Given the description of an element on the screen output the (x, y) to click on. 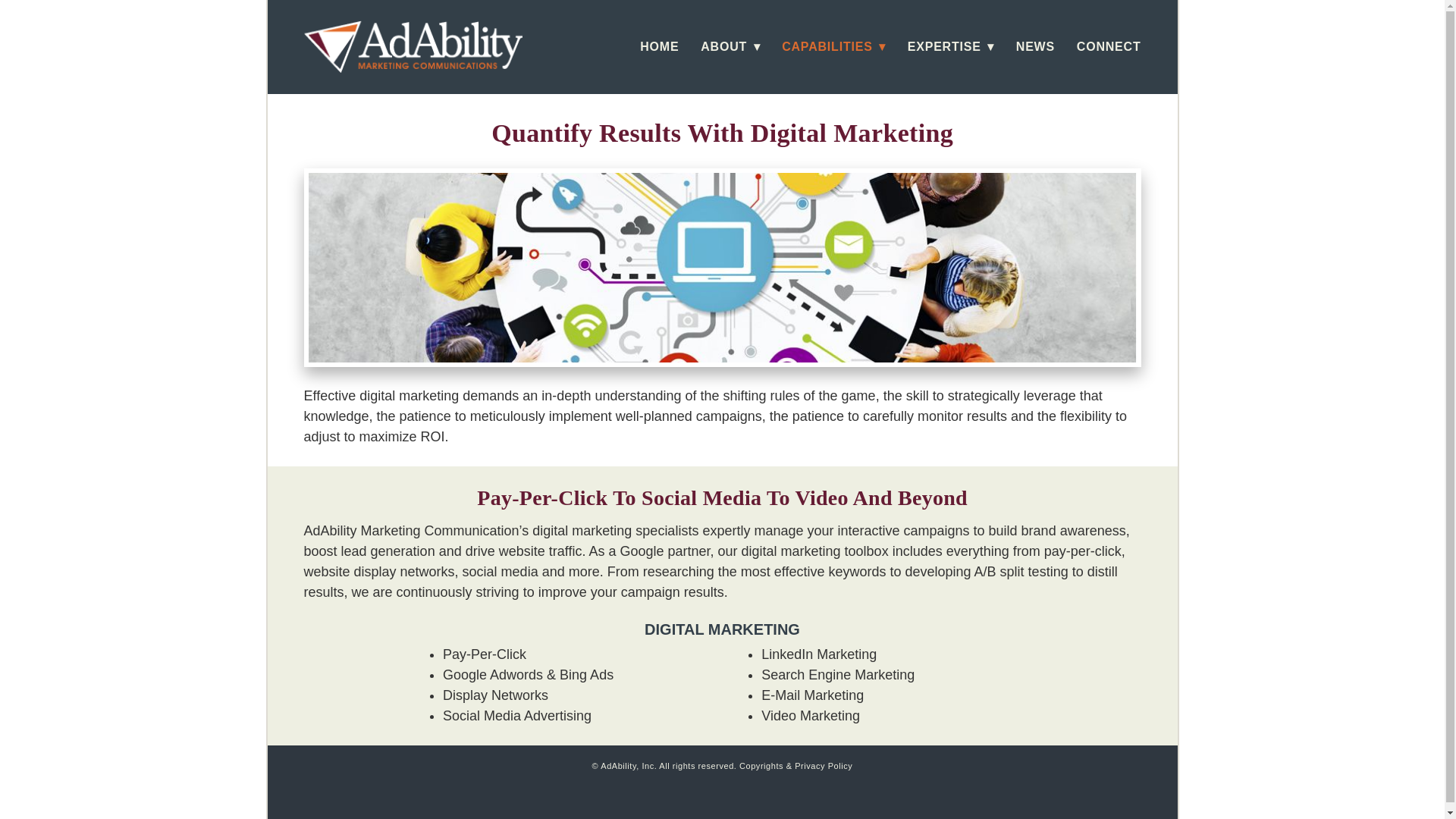
NEWS (1035, 46)
AdAbility Marketing Communications (411, 46)
HOME (659, 46)
CONNECT (1109, 46)
